Given the description of an element on the screen output the (x, y) to click on. 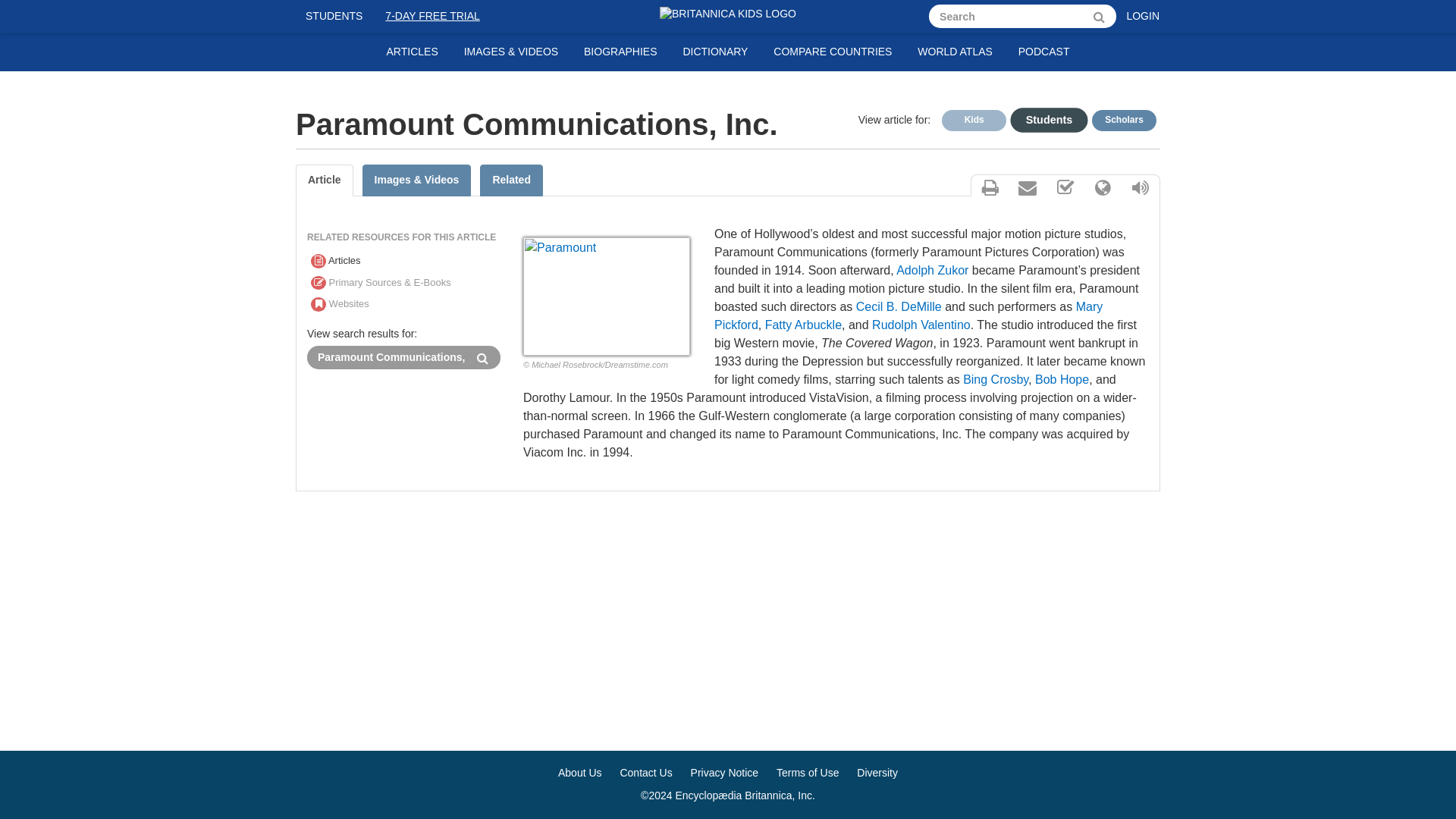
Grade 9 and Up (1124, 119)
Paramount Communications, Inc. (386, 357)
STUDENTS (333, 16)
Paramount (606, 296)
Grades 6-8 (1042, 118)
Paramount Communications, Inc. (386, 357)
